Given the description of an element on the screen output the (x, y) to click on. 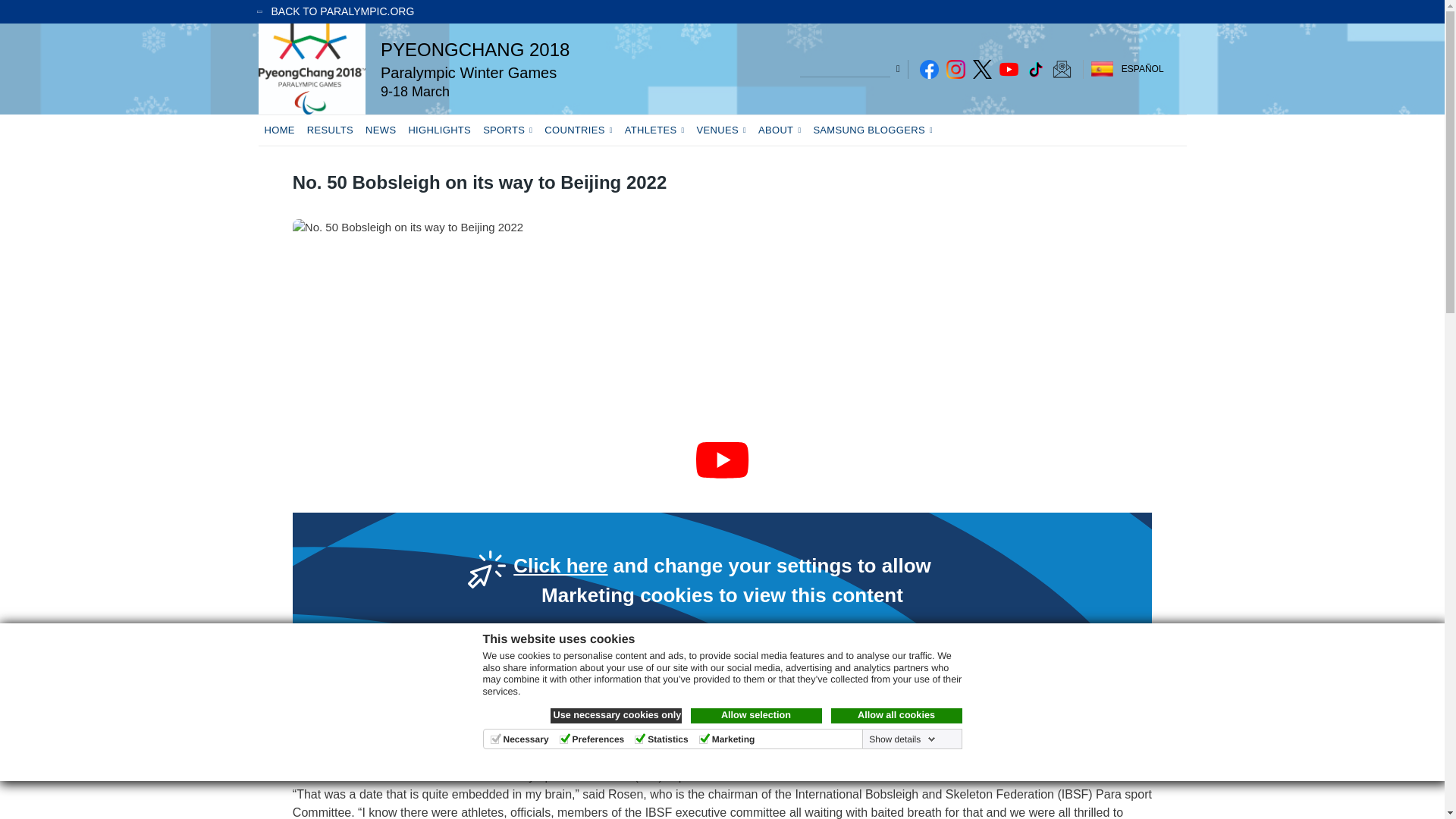
Show details (900, 739)
Allow all cookies (896, 715)
Allow selection (755, 715)
Use necessary cookies only (615, 715)
